Given the description of an element on the screen output the (x, y) to click on. 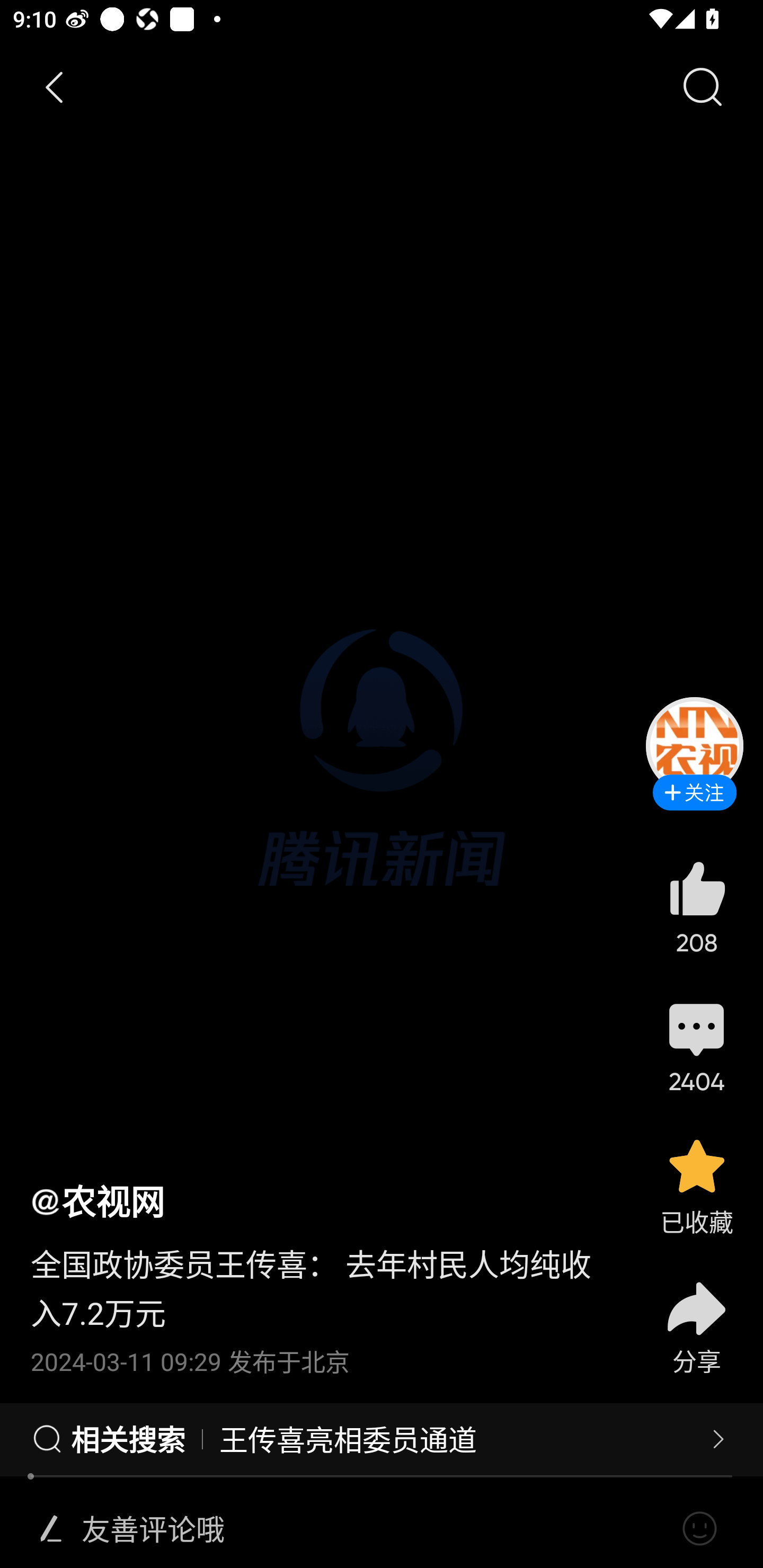
 返回 (54, 87)
 搜索 (701, 87)
赞 208 (696, 906)
评论  2404 (696, 1045)
收藏 已收藏 (696, 1184)
农视网 (97, 1200)
全国政协委员王传喜： 去年村民人均纯收入7.2万元 2024-03-11 09:29 发布于北京 (321, 1300)
分享  分享 (696, 1315)
相关搜索 王传喜亮相委员通道  (381, 1440)
友善评论哦 发表评论 (373, 1529)
 (50, 1528)
 (699, 1528)
